Given the description of an element on the screen output the (x, y) to click on. 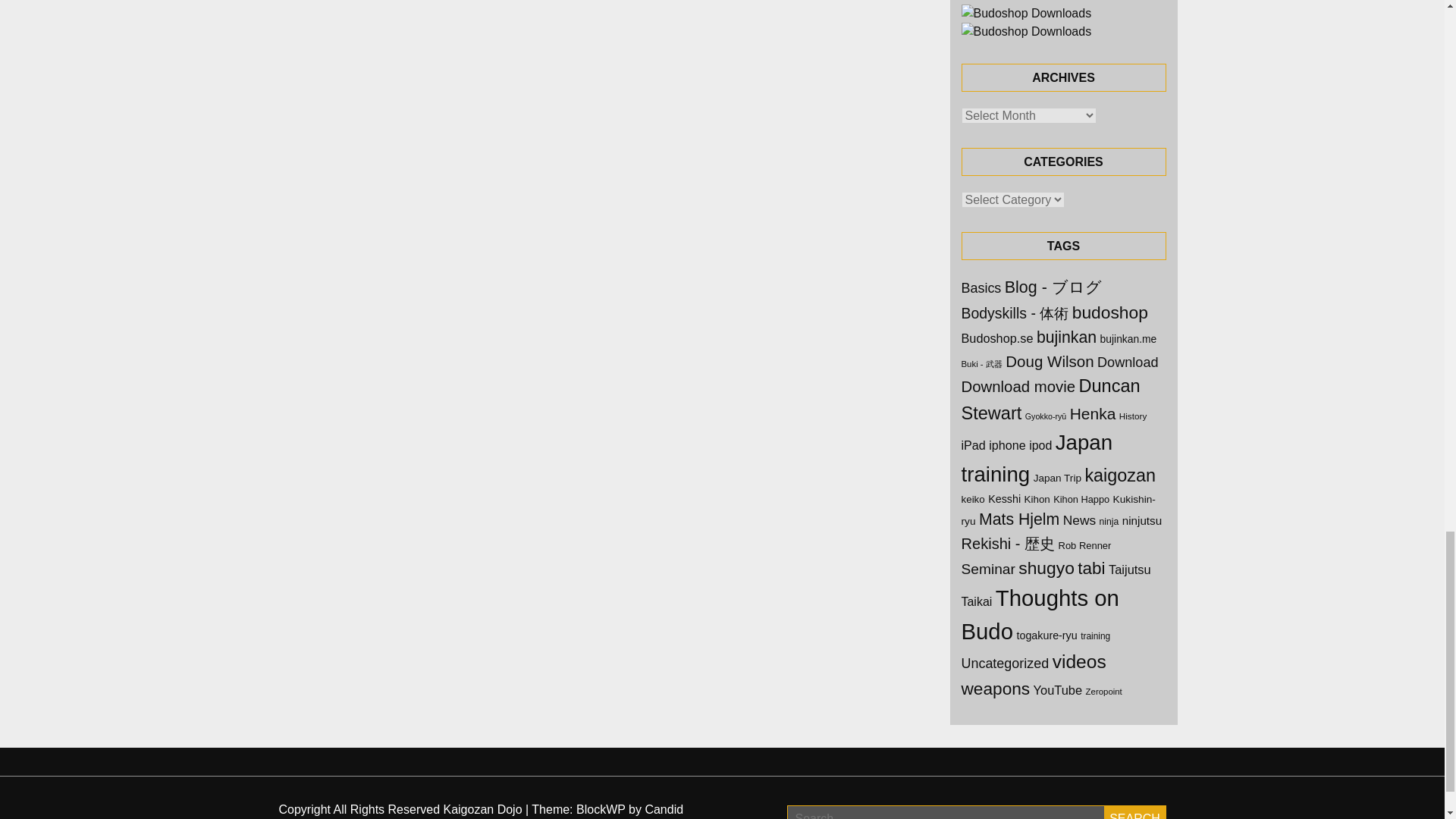
Search (1134, 812)
Budoshop Downloads (1026, 13)
Search (1134, 812)
Budoshop Downloads (1026, 31)
